Given the description of an element on the screen output the (x, y) to click on. 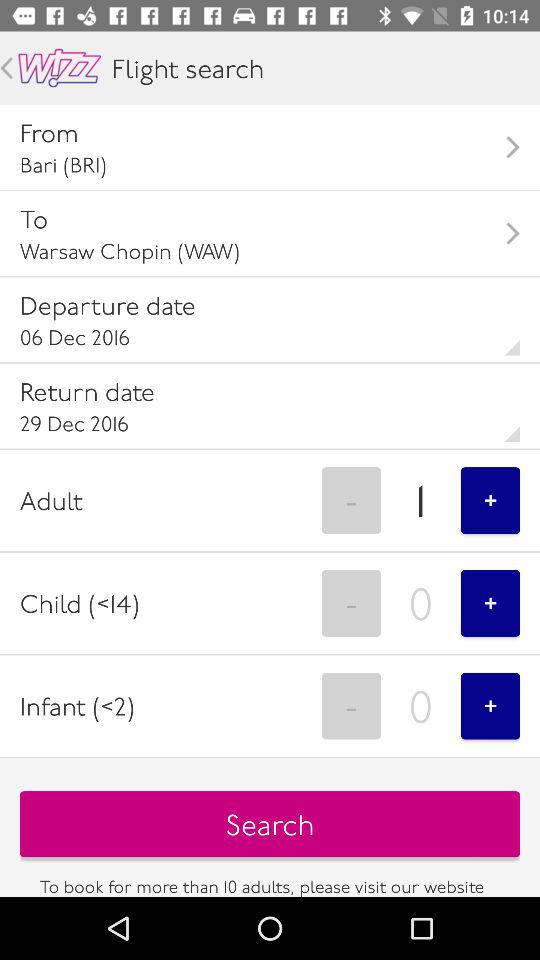
an arrow pointing to the left when pressed goes back a page (6, 67)
